Given the description of an element on the screen output the (x, y) to click on. 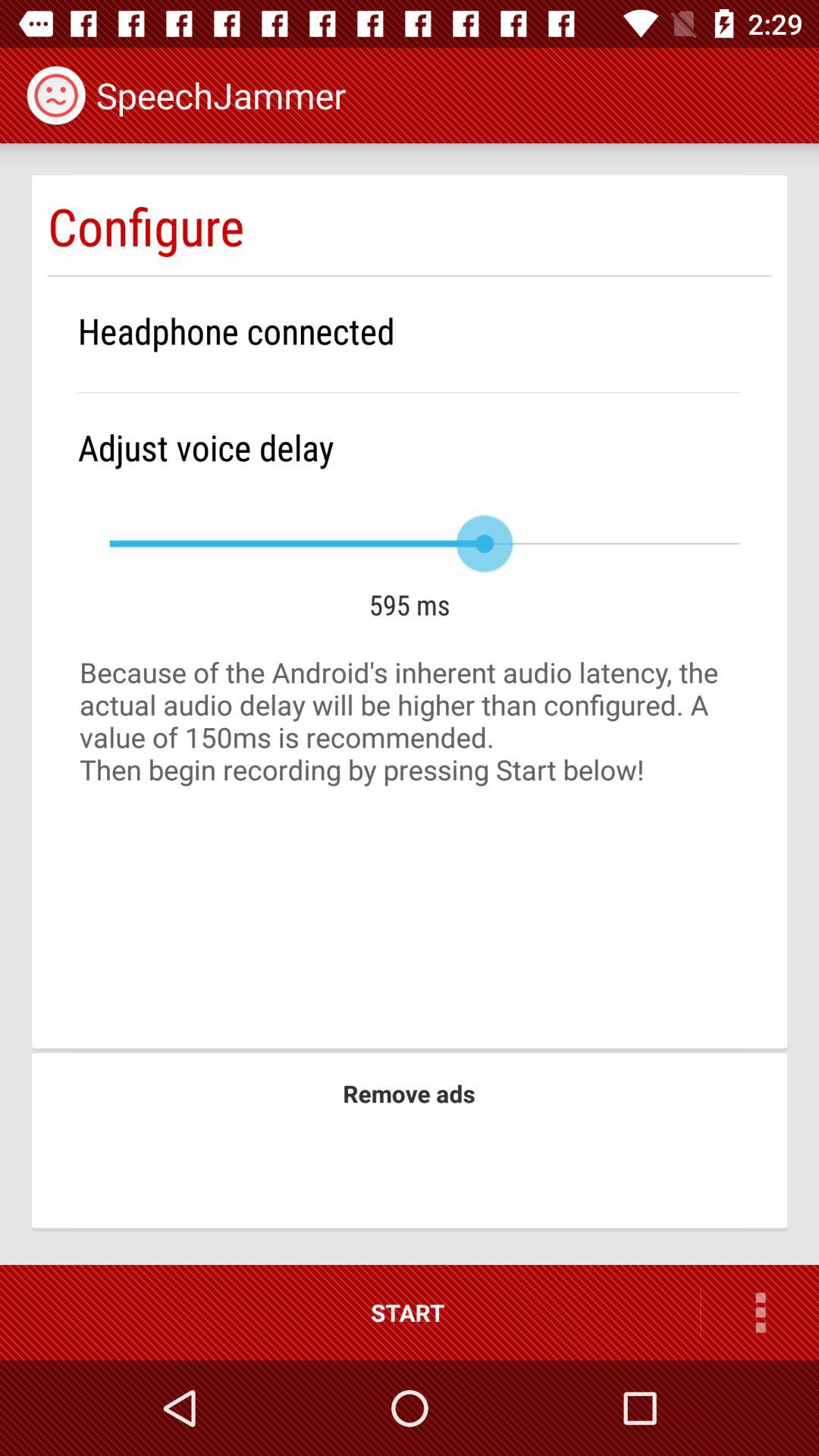
turn off icon at the bottom right corner (760, 1312)
